Given the description of an element on the screen output the (x, y) to click on. 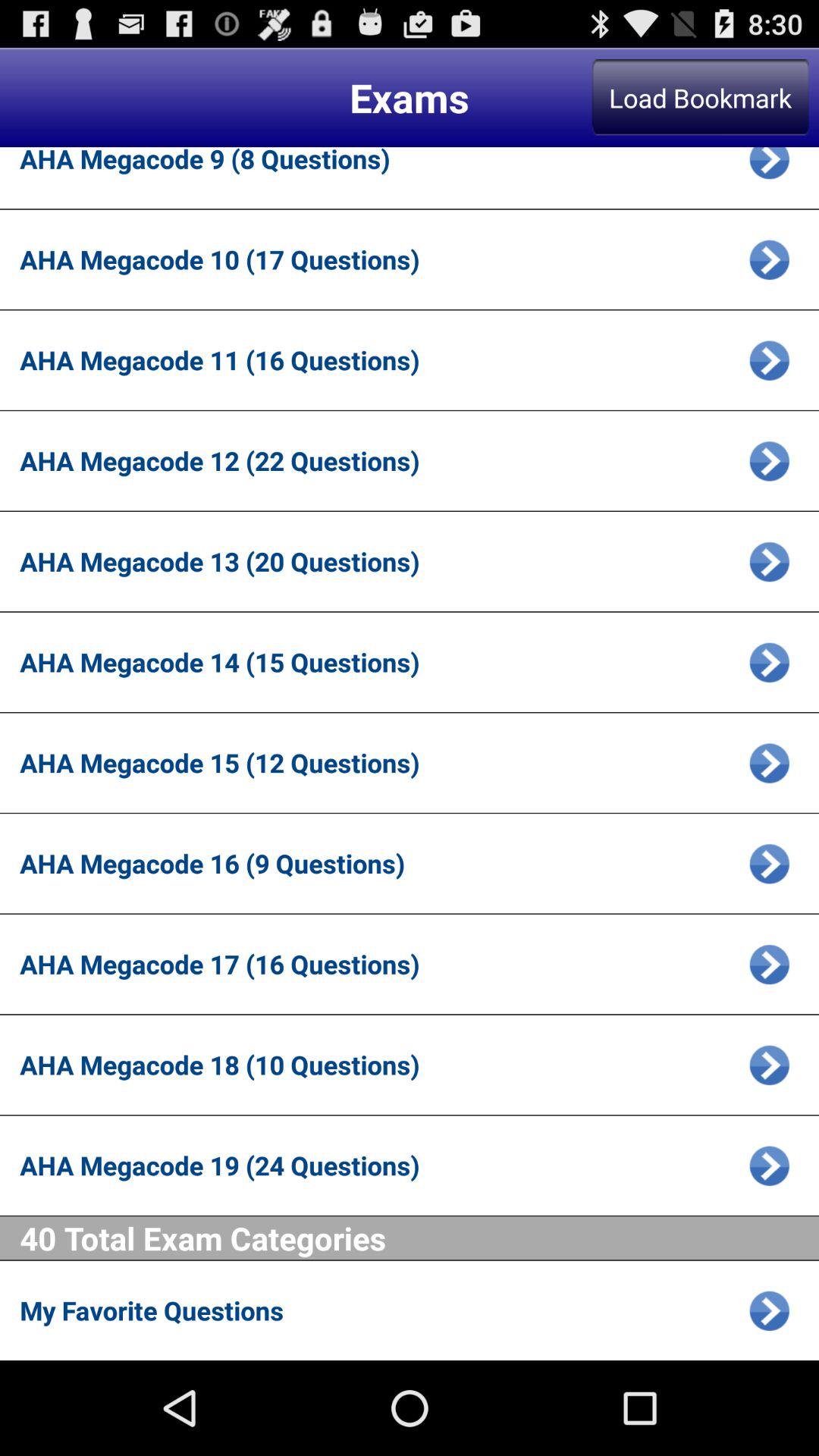
open page (769, 1064)
